Given the description of an element on the screen output the (x, y) to click on. 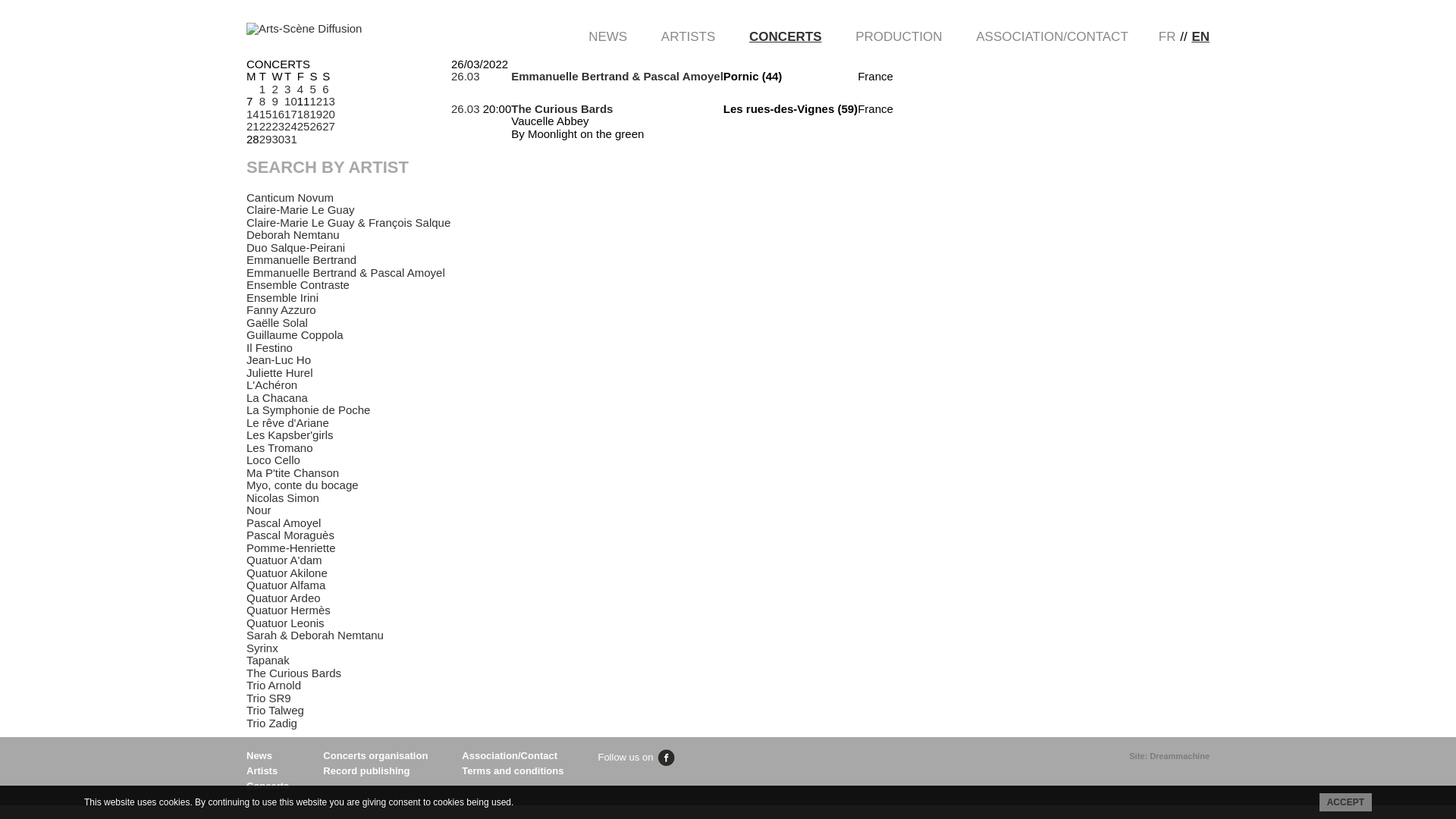
ARTISTS Element type: text (688, 36)
Quatuor Leonis Element type: text (285, 622)
8 Element type: text (262, 100)
Quatuor Akilone Element type: text (286, 572)
Tapanak Element type: text (267, 659)
5 Element type: text (312, 87)
ASSOCIATION/CONTACT Element type: text (1051, 36)
Loco Cello Element type: text (273, 459)
Deborah Nemtanu Element type: text (292, 234)
Claire-Marie Le Guay Element type: text (300, 209)
Quatuor Ardeo Element type: text (283, 597)
Emmanuelle Bertrand & Pascal Amoyel Element type: text (345, 272)
Concerts Element type: text (267, 785)
Association/Contact Element type: text (509, 755)
12 Element type: text (315, 100)
Trio SR9 Element type: text (268, 697)
The Curious Bards Element type: text (293, 672)
Ma P'tite Chanson Element type: text (292, 472)
Nour Element type: text (258, 509)
Quatuor Alfama Element type: text (285, 584)
Site: Dreammachine Element type: text (1169, 755)
30 Element type: text (277, 137)
Emmanuelle Bertrand & Pascal Amoyel Element type: text (617, 75)
Pomme-Henriette Element type: text (290, 547)
Concerts organisation Element type: text (375, 755)
26 Element type: text (315, 125)
16 Element type: text (277, 113)
25 Element type: text (303, 125)
18 Element type: text (303, 113)
Ensemble Contraste Element type: text (297, 284)
NEWS Element type: text (607, 36)
Emmanuelle Bertrand Element type: text (301, 259)
31 Element type: text (290, 137)
FR Element type: text (1167, 36)
Myo, conte du bocage Element type: text (302, 484)
Terms and conditions Element type: text (512, 770)
Trio Talweg Element type: text (275, 709)
10 Element type: text (290, 100)
CONCERTS Element type: text (785, 36)
Nicolas Simon Element type: text (282, 497)
Sarah & Deborah Nemtanu Element type: text (314, 634)
27 Element type: text (328, 125)
Duo Salque-Peirani Element type: text (295, 247)
The Curious Bards Element type: text (561, 107)
Artists Element type: text (261, 770)
Fanny Azzuro Element type: text (281, 309)
19 Element type: text (315, 113)
Quatuor A'dam Element type: text (284, 559)
20 Element type: text (328, 113)
22 Element type: text (265, 125)
13 Element type: text (328, 100)
14 Element type: text (252, 113)
24 Element type: text (290, 125)
Canticum Novum Element type: text (289, 197)
1 Element type: text (262, 87)
Les Tromano Element type: text (279, 447)
Record publishing Element type: text (366, 770)
Syrinx Element type: text (262, 647)
6 Element type: text (325, 87)
29 Element type: text (265, 137)
News Element type: text (259, 755)
PRODUCTION Element type: text (898, 36)
9 Element type: text (274, 100)
4 Element type: text (300, 87)
Les Kapsber'girls Element type: text (289, 434)
Trio Arnold Element type: text (273, 684)
Pascal Amoyel Element type: text (283, 522)
2 Element type: text (274, 87)
La Symphonie de Poche Element type: text (308, 409)
15 Element type: text (265, 113)
Ensemble Irini Element type: text (282, 297)
21 Element type: text (252, 125)
3 Element type: text (287, 87)
Il Festino Element type: text (269, 347)
Juliette Hurel Element type: text (279, 372)
26.03 Element type: text (465, 107)
La Chacana Element type: text (276, 397)
Trio Zadig Element type: text (271, 722)
ACCEPT Element type: text (1345, 802)
Guillaume Coppola Element type: text (294, 334)
26.03 Element type: text (465, 75)
23 Element type: text (277, 125)
EN Element type: text (1200, 36)
Jean-Luc Ho Element type: text (278, 359)
17 Element type: text (290, 113)
